Given the description of an element on the screen output the (x, y) to click on. 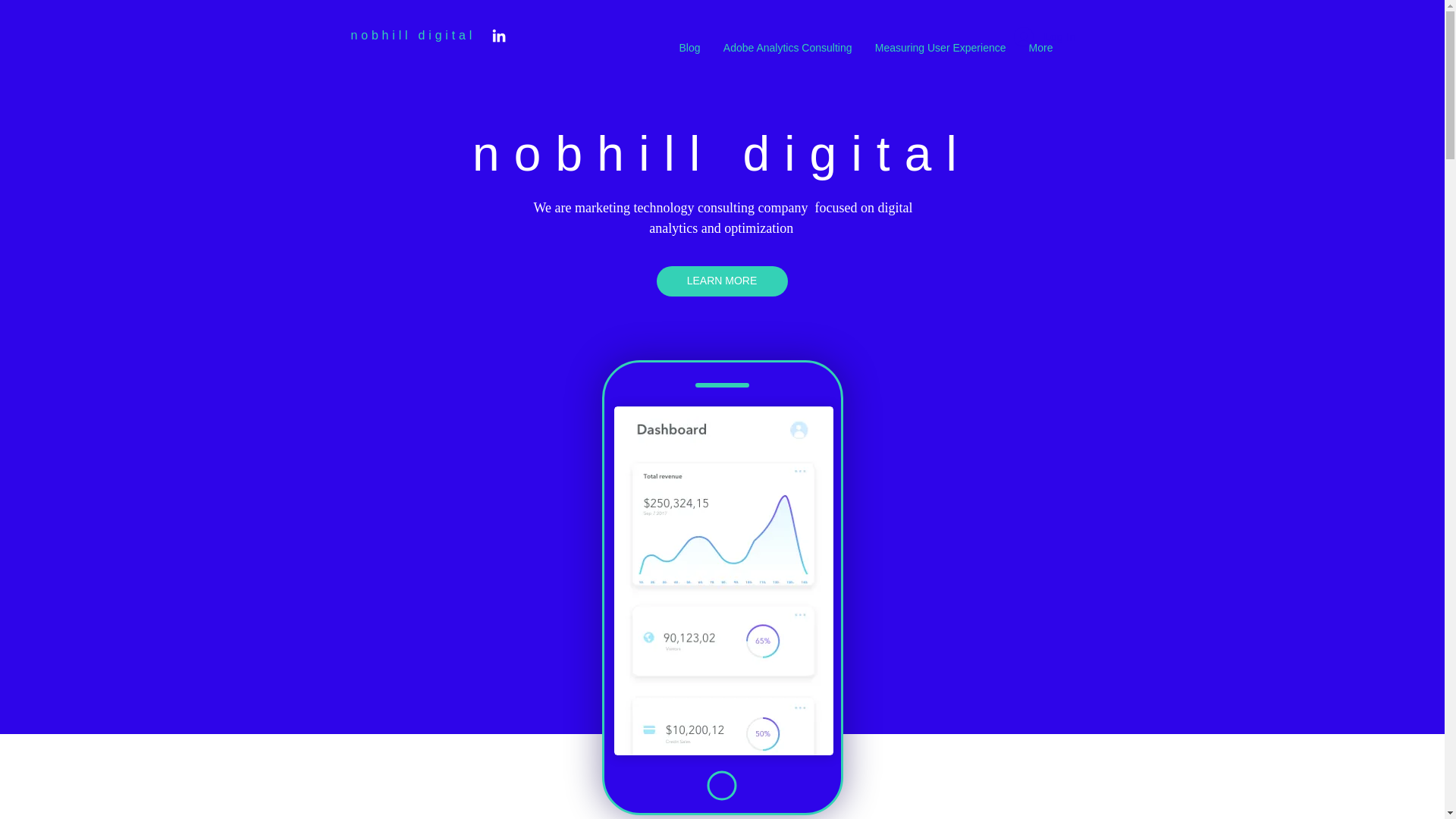
nobhill digital (413, 34)
Measuring User Experience (939, 47)
Adobe Analytics Consulting (787, 47)
LEARN MORE (721, 281)
Blog (688, 47)
Log In (1044, 36)
